Given the description of an element on the screen output the (x, y) to click on. 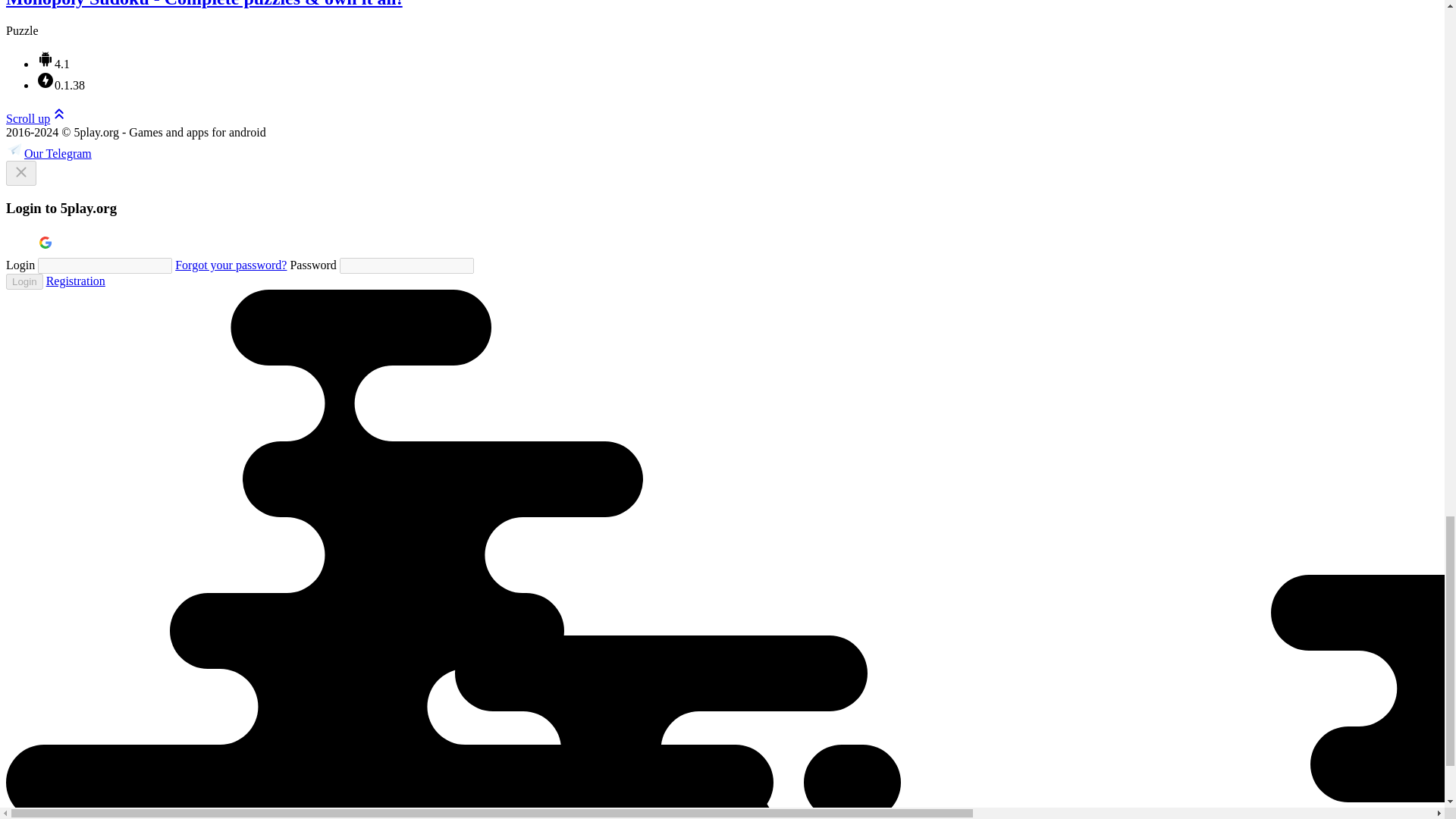
Scroll up (36, 118)
